Given the description of an element on the screen output the (x, y) to click on. 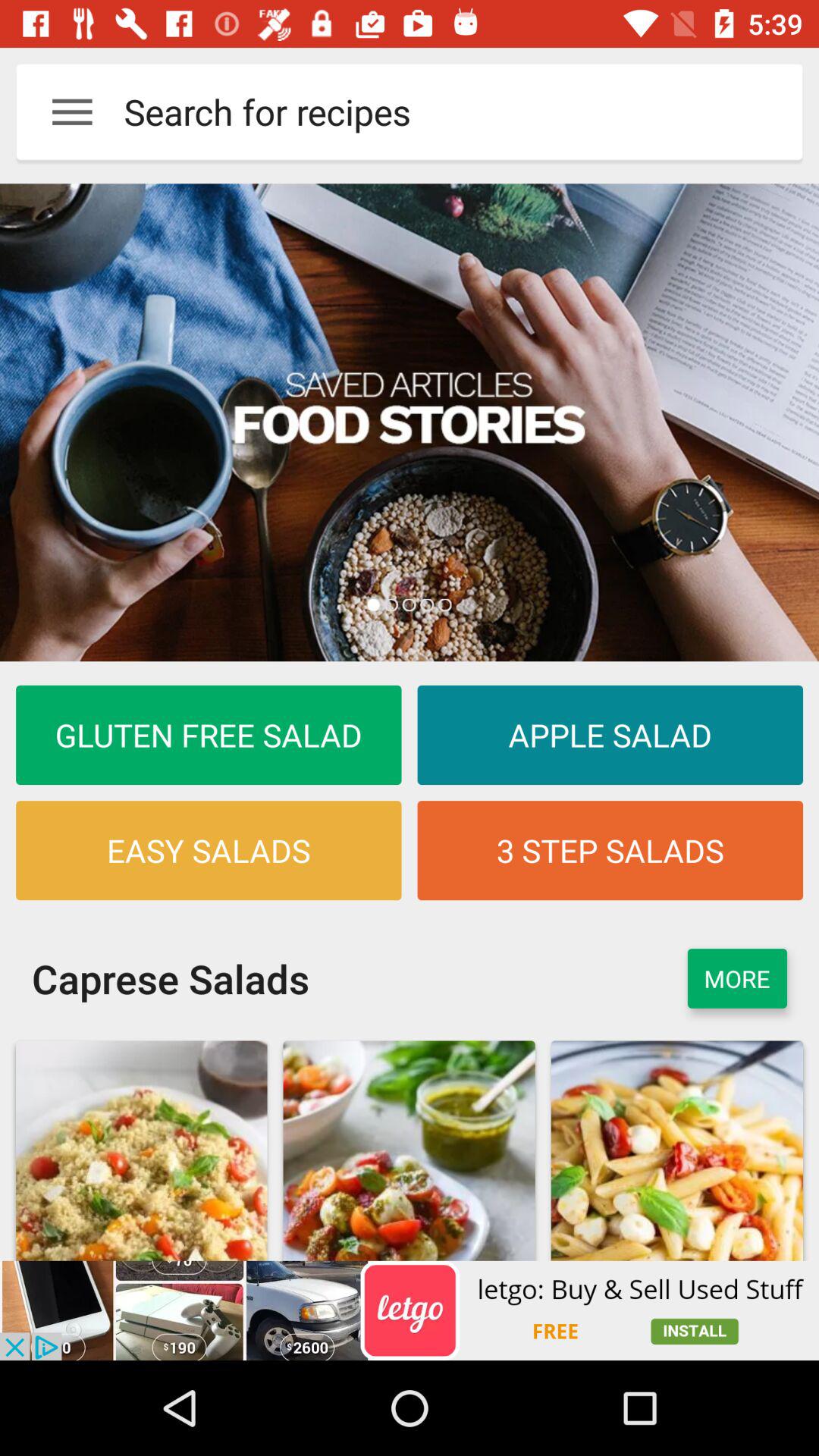
click advertisements (409, 1310)
